Given the description of an element on the screen output the (x, y) to click on. 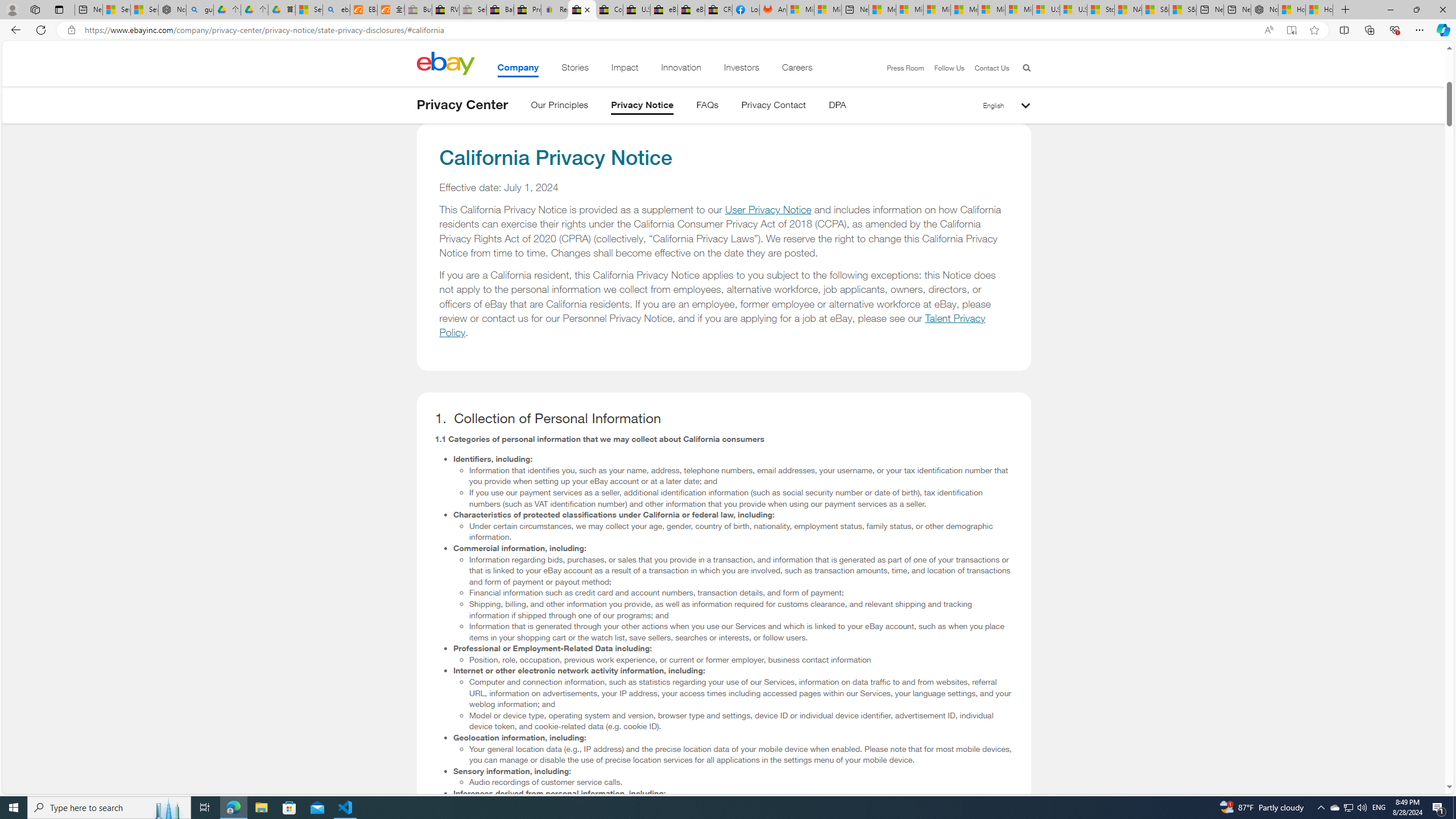
Press Room - eBay Inc. (527, 9)
Privacy Notice (642, 107)
Sell worldwide with eBay - Sleeping (473, 9)
S&P 500, Nasdaq end lower, weighed by Nvidia dip | Watch (1182, 9)
Consumer Health Data Privacy Policy - eBay Inc. (609, 9)
